Given the description of an element on the screen output the (x, y) to click on. 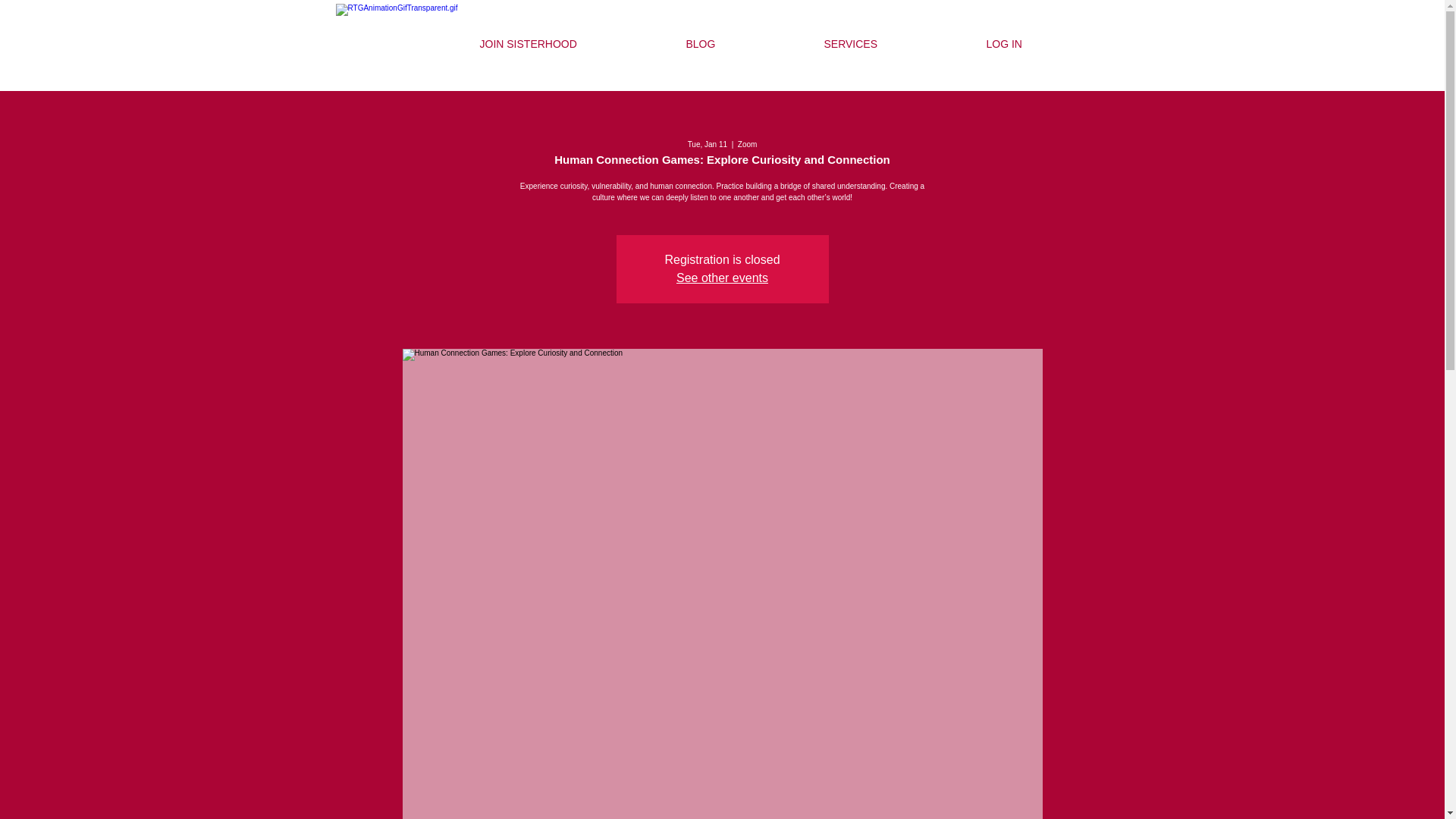
JOIN SISTERHOOD (571, 44)
SERVICES (893, 44)
BLOG (743, 44)
See other events (722, 277)
LOG IN (1047, 44)
